Given the description of an element on the screen output the (x, y) to click on. 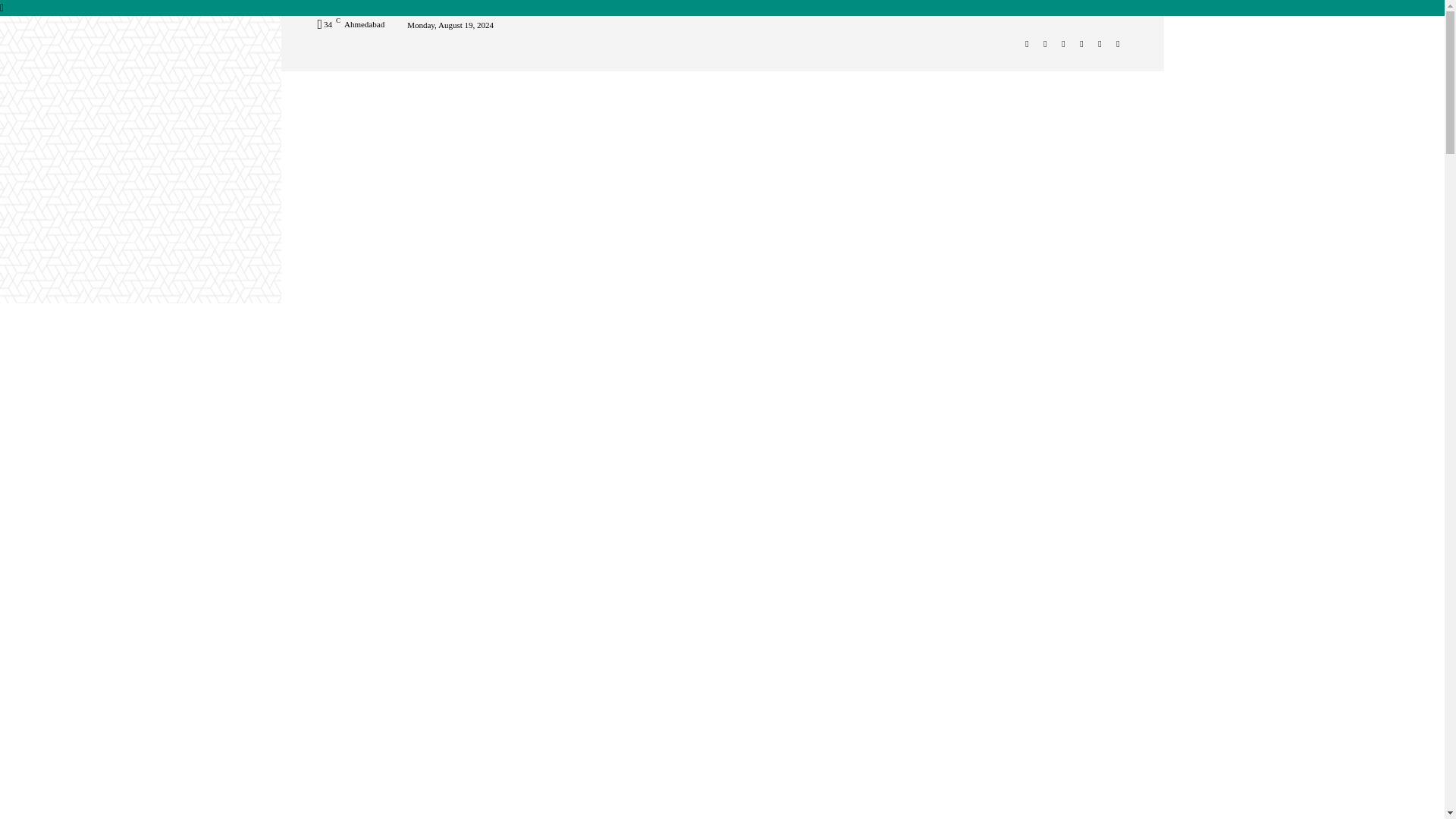
Facebook (1026, 44)
WhatsApp (1099, 44)
Mail (1062, 44)
Youtube (1117, 44)
Twitter (1080, 44)
Instagram (1044, 44)
